Given the description of an element on the screen output the (x, y) to click on. 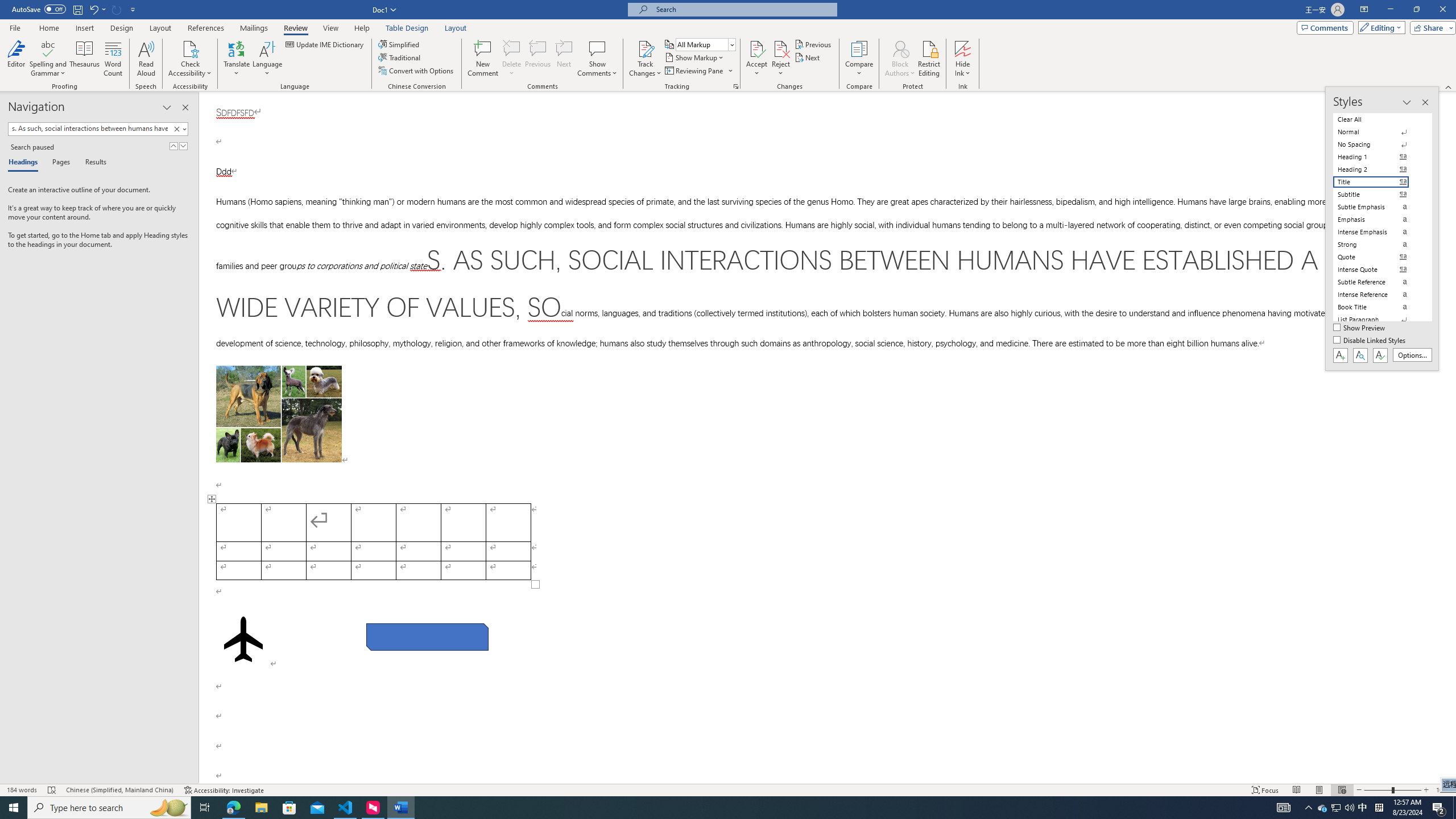
Simplified (400, 44)
Rectangle: Diagonal Corners Snipped 2 (427, 636)
Clear All (1377, 119)
Delete (511, 58)
Class: NetUIScrollBar (1450, 437)
Morphological variation in six dogs (278, 414)
Reviewing Pane (698, 69)
New Comment (482, 58)
Translate (236, 58)
Show Comments (597, 48)
Accept (756, 58)
Results (91, 162)
